Given the description of an element on the screen output the (x, y) to click on. 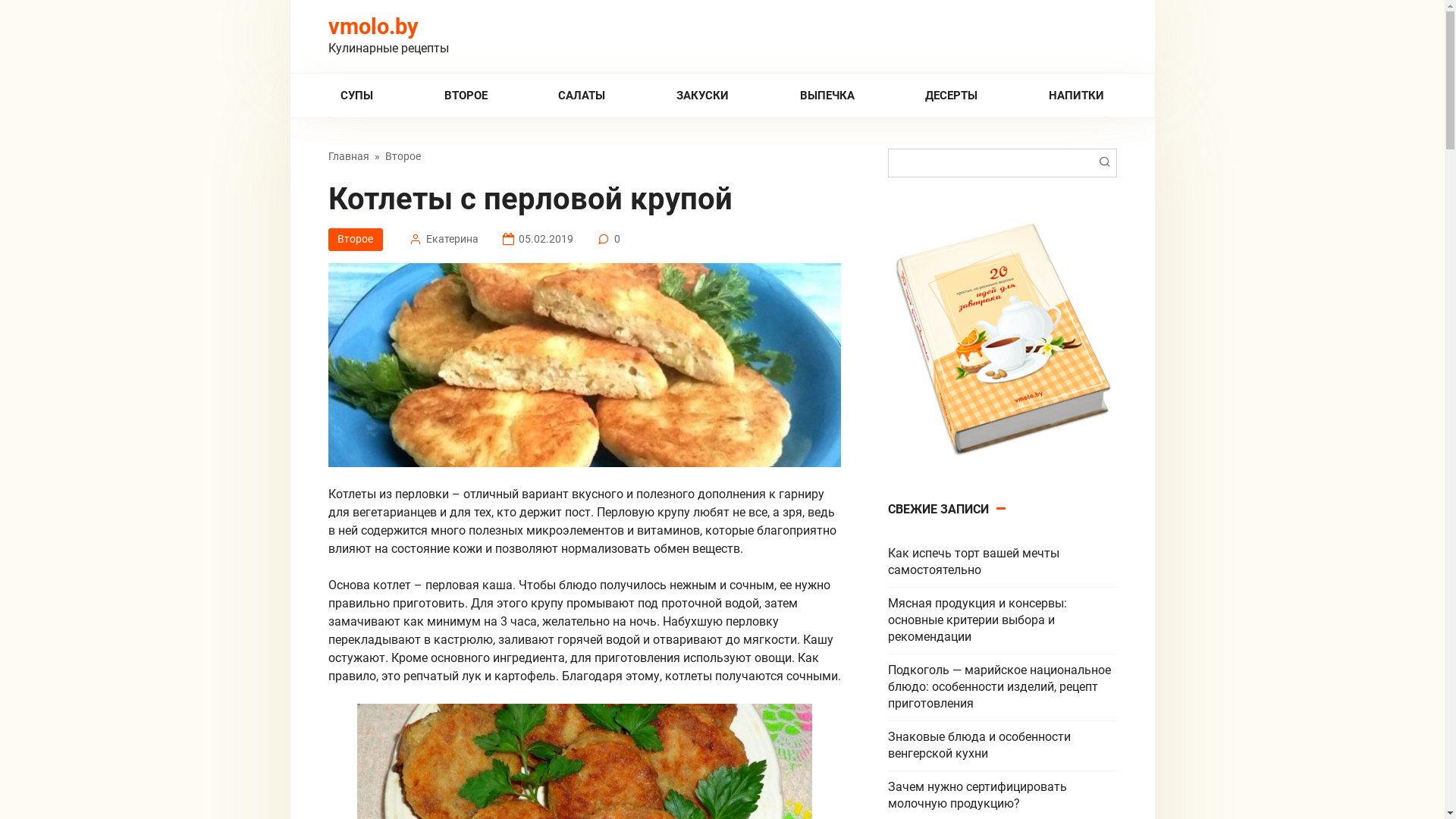
vmolo.by Element type: text (372, 26)
